Given the description of an element on the screen output the (x, y) to click on. 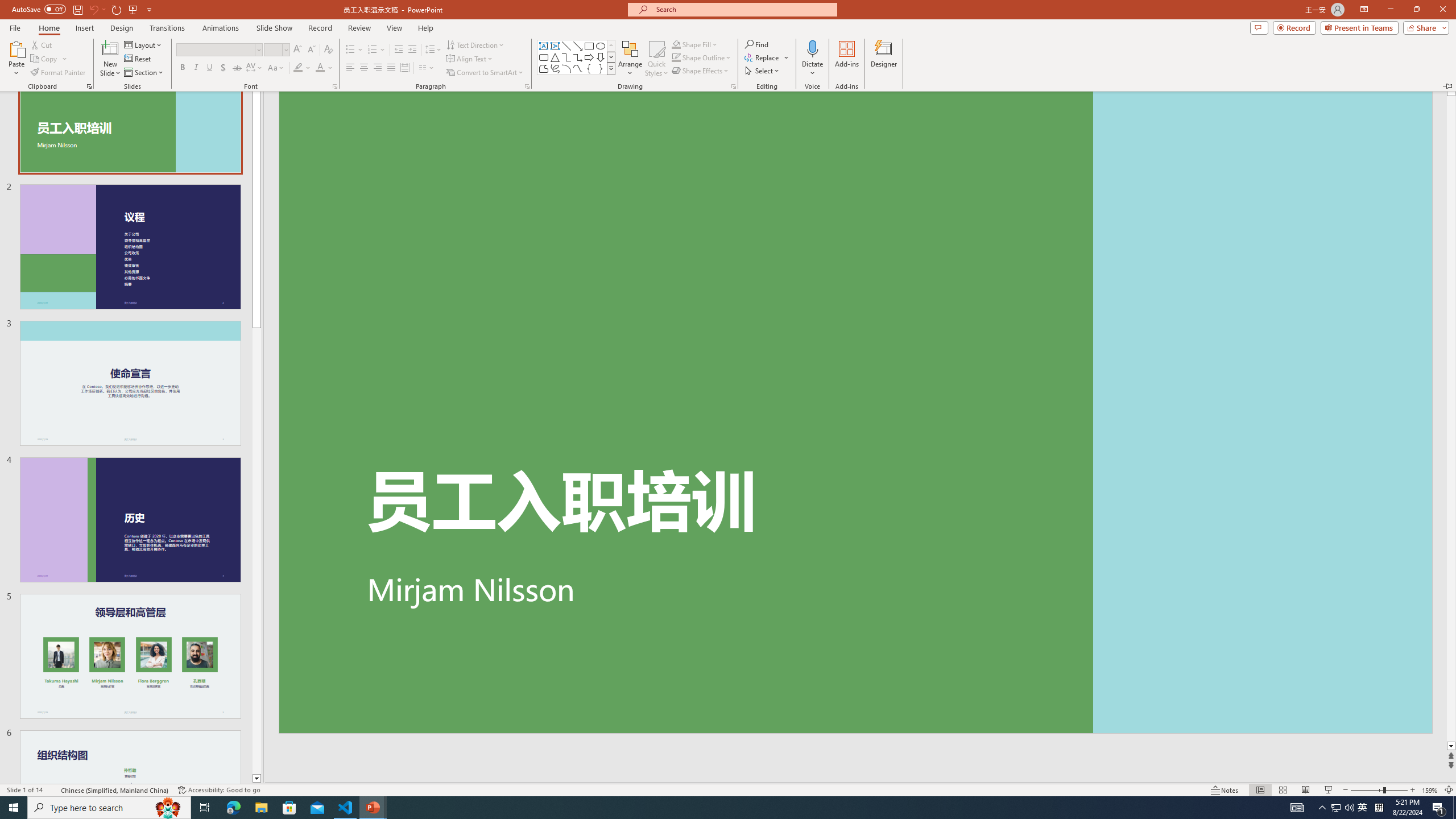
File Explorer (261, 807)
Zoom 159% (1430, 790)
Tray Input Indicator - Chinese (Simplified, China) (1378, 807)
Show desktop (1454, 807)
PowerPoint - 2 running windows (373, 807)
Spell Check  (52, 790)
